Given the description of an element on the screen output the (x, y) to click on. 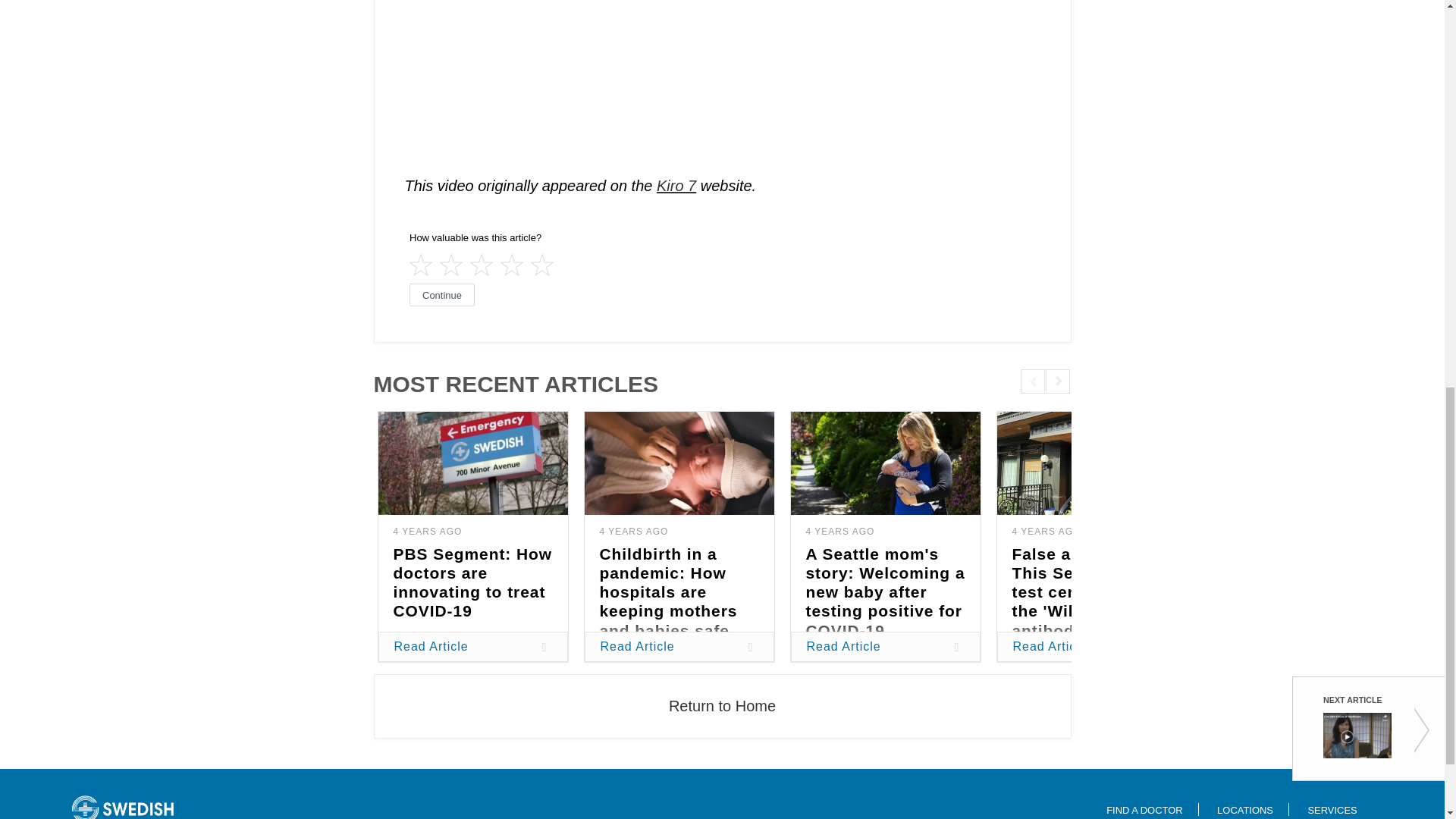
2020-06-04T04:00:00 (1045, 531)
2020-07-01T04:00:00 (427, 531)
2020-06-25T04:00:00 (633, 531)
2020-06-08T04:00:00 (840, 531)
